Given the description of an element on the screen output the (x, y) to click on. 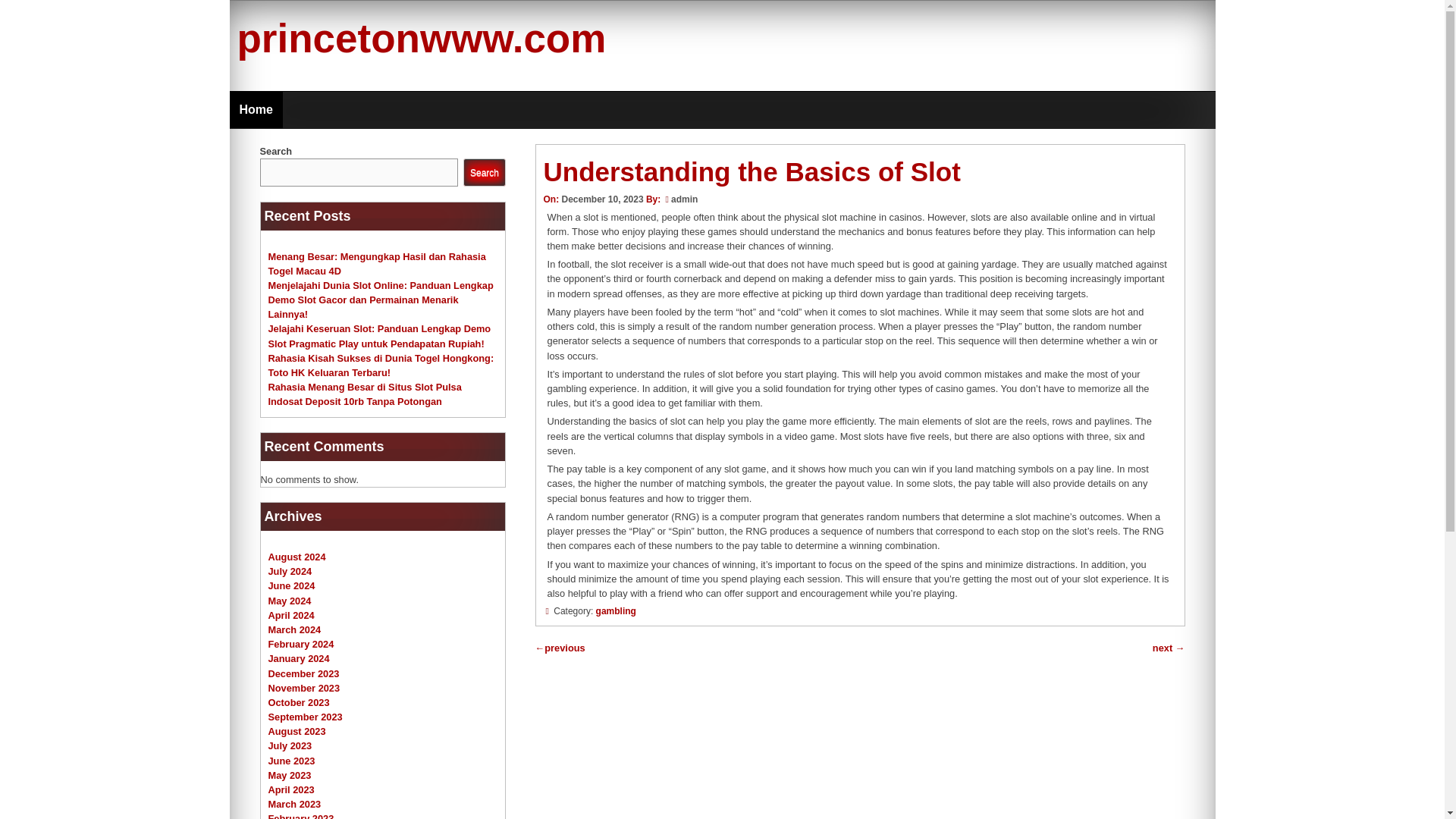
Search (484, 172)
Home (255, 109)
May 2024 (289, 600)
November 2023 (303, 687)
gambling (615, 611)
admin (684, 199)
April 2024 (290, 614)
February 2023 (300, 816)
